Given the description of an element on the screen output the (x, y) to click on. 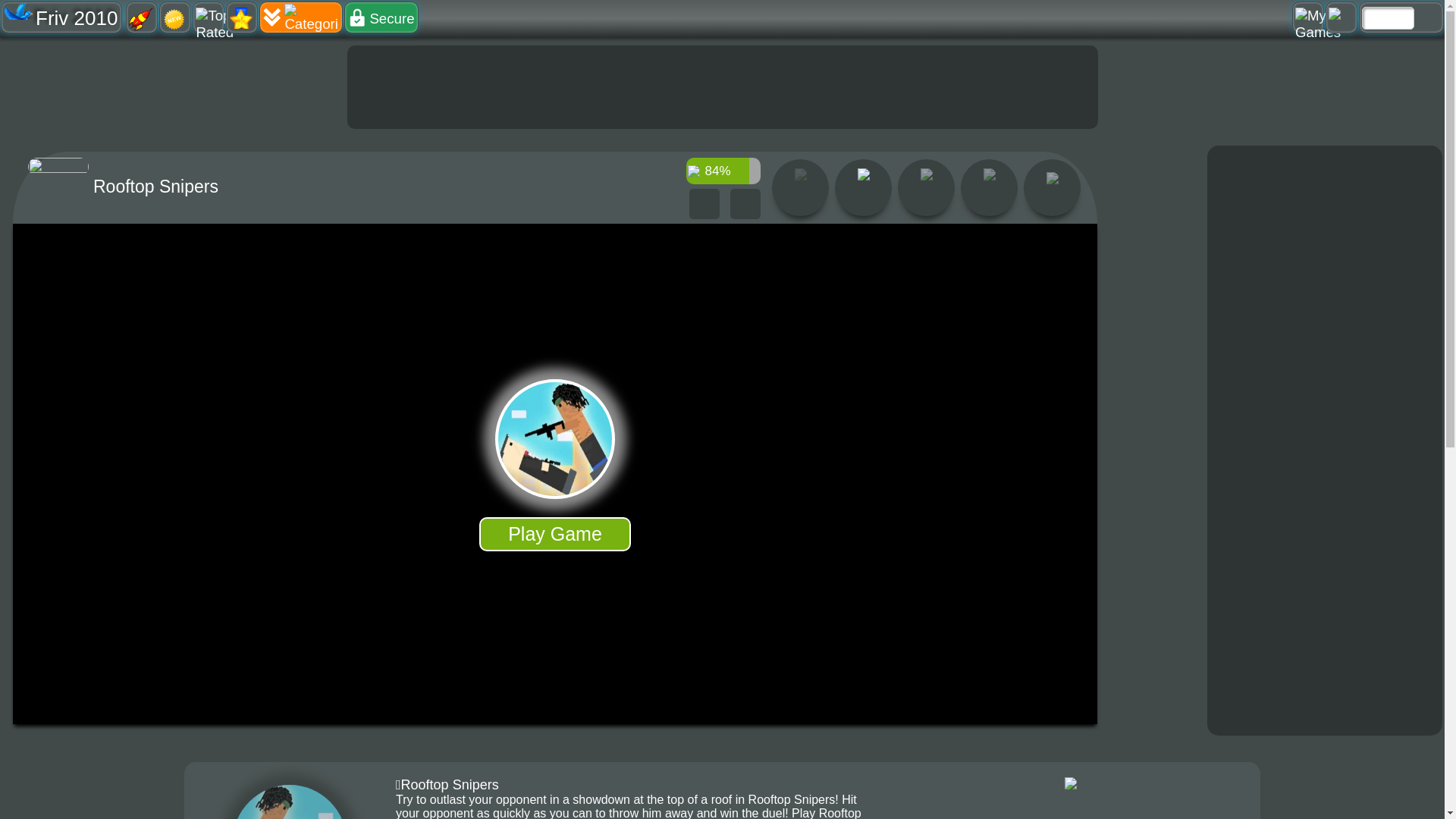
Secure (380, 17)
Friv 2010 (61, 17)
Play Game (554, 533)
